Given the description of an element on the screen output the (x, y) to click on. 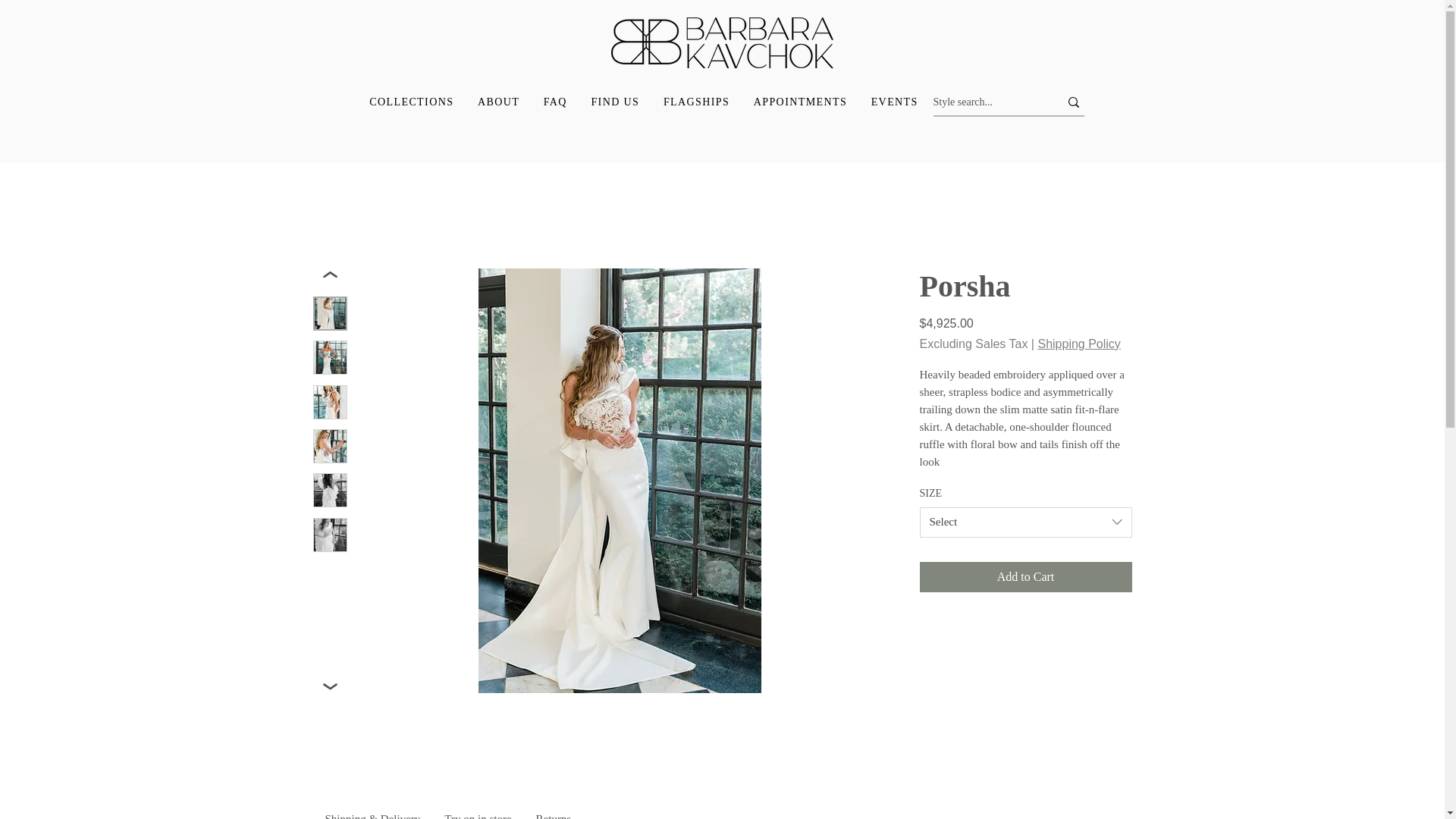
ABOUT (498, 102)
Use right and left arrows to navigate between tabs (477, 809)
FLAGSHIPS (695, 102)
Use right and left arrows to navigate between tabs (553, 809)
Use right and left arrows to navigate between tabs (372, 809)
EVENTS (894, 102)
APPOINTMENTS (800, 102)
FAQ (555, 102)
FIND US (614, 102)
